Given the description of an element on the screen output the (x, y) to click on. 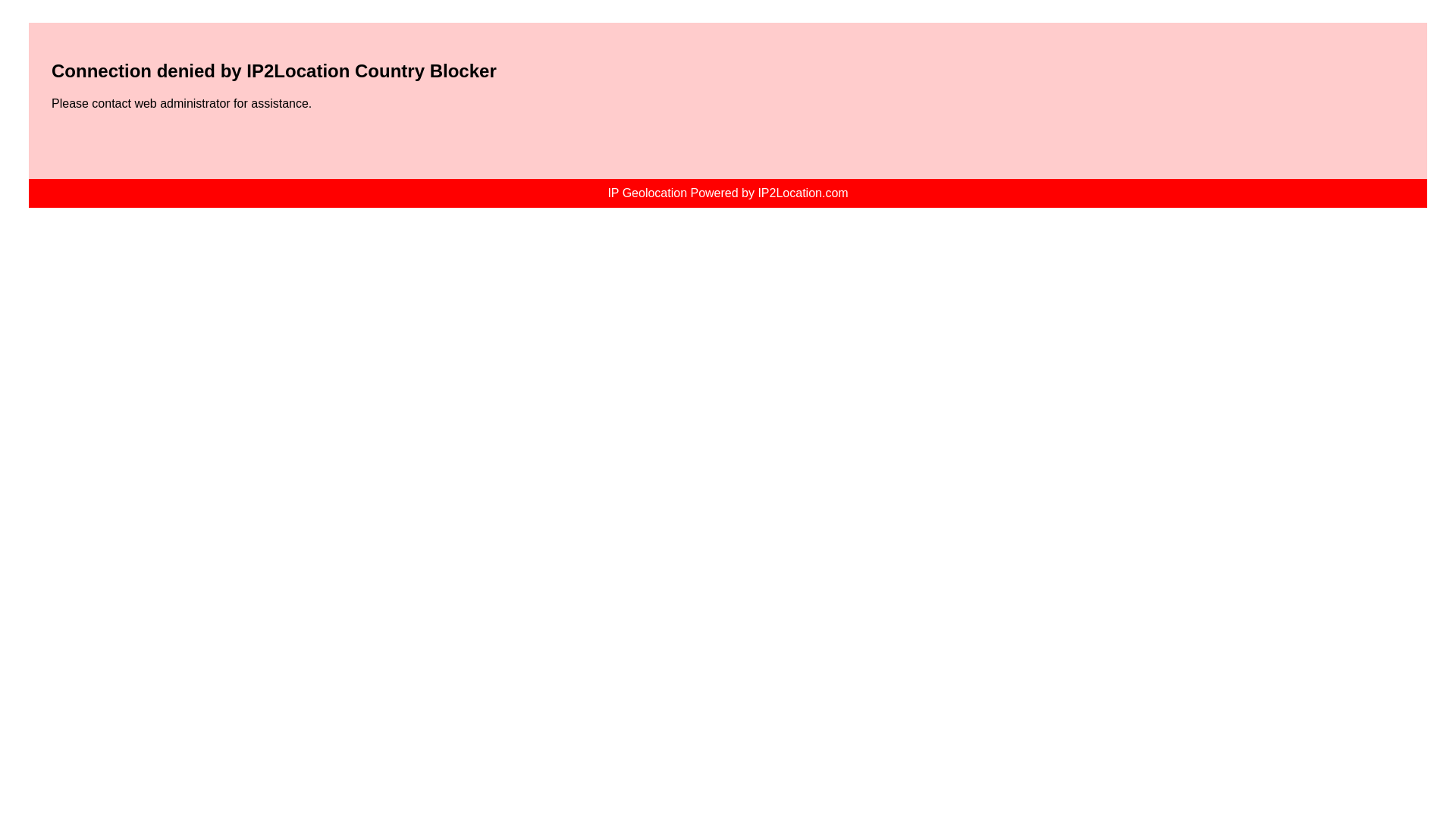
IP Geolocation Powered by IP2Location.com (727, 192)
